Given the description of an element on the screen output the (x, y) to click on. 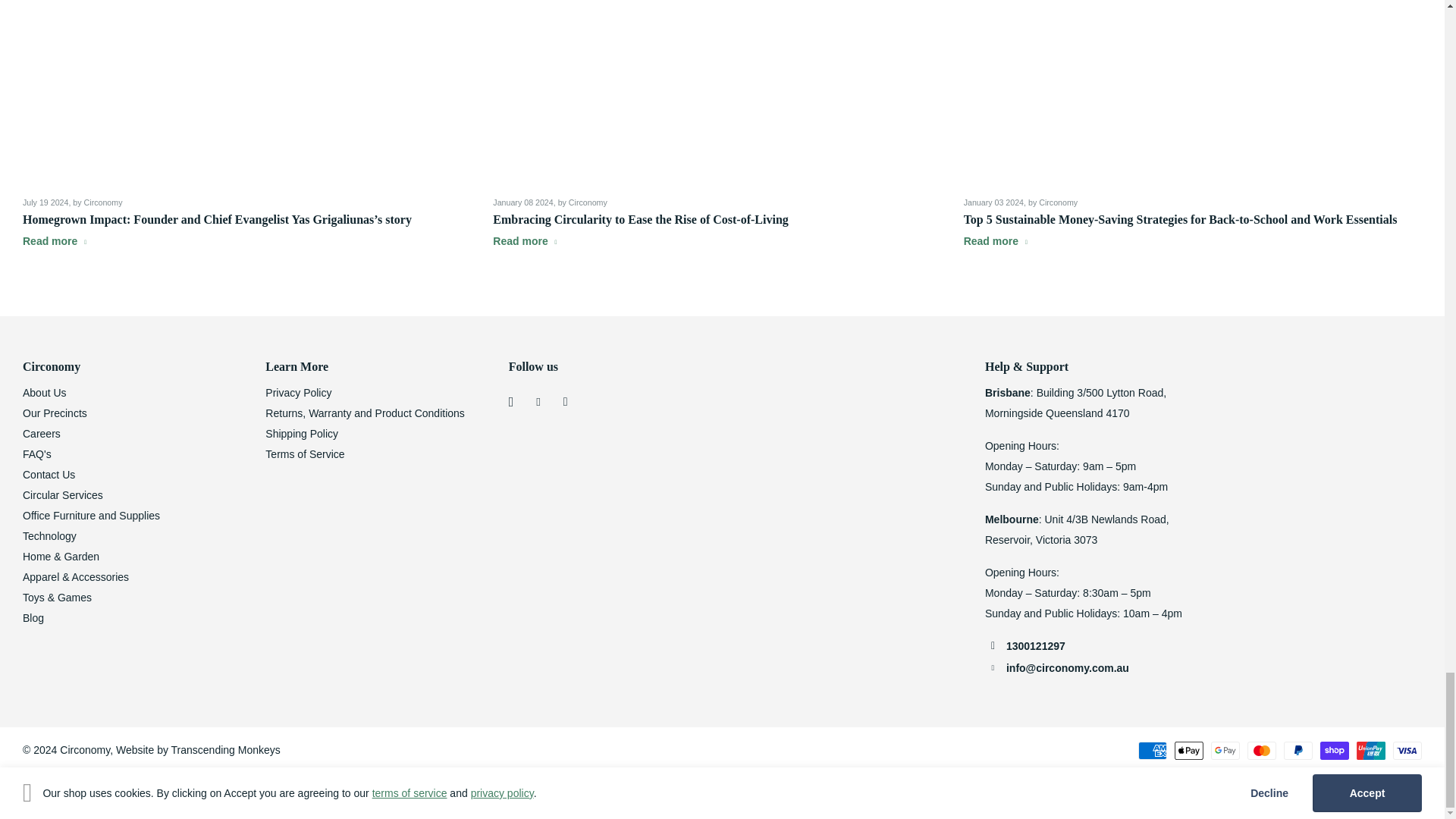
Circular Services (63, 494)
Mastercard (1261, 751)
PayPal (1298, 751)
Shop Pay (1334, 751)
About Us (44, 392)
Apple Pay (1189, 751)
Office Furniture and Supplies (91, 515)
Technology (50, 535)
Careers (42, 433)
American Express (1152, 751)
Visa (1407, 751)
Our Precincts (55, 413)
Google Pay (1225, 751)
Blog (33, 617)
Union Pay (1371, 751)
